Given the description of an element on the screen output the (x, y) to click on. 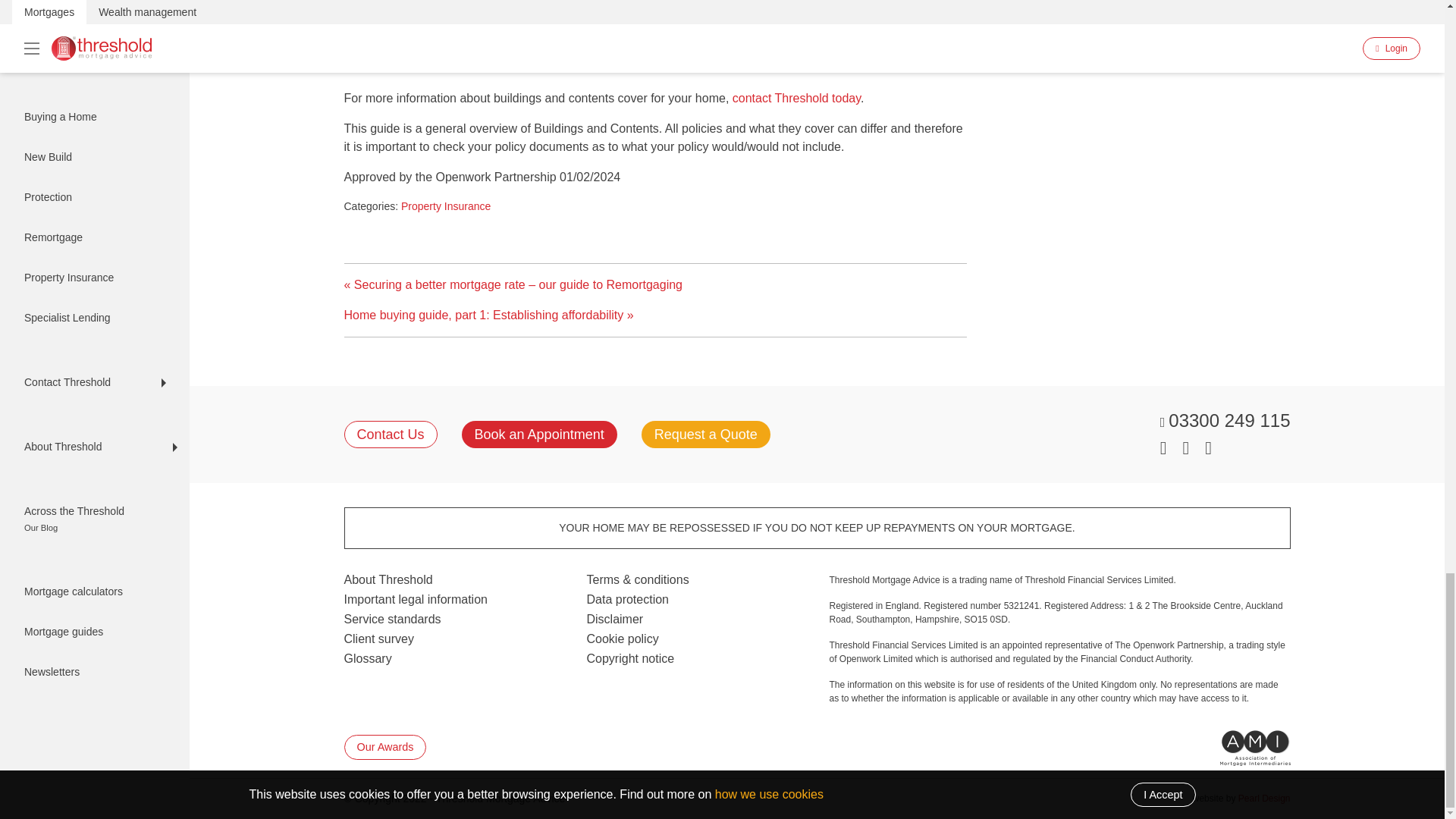
contact Threshold today (796, 97)
Property Insurance (445, 205)
